Given the description of an element on the screen output the (x, y) to click on. 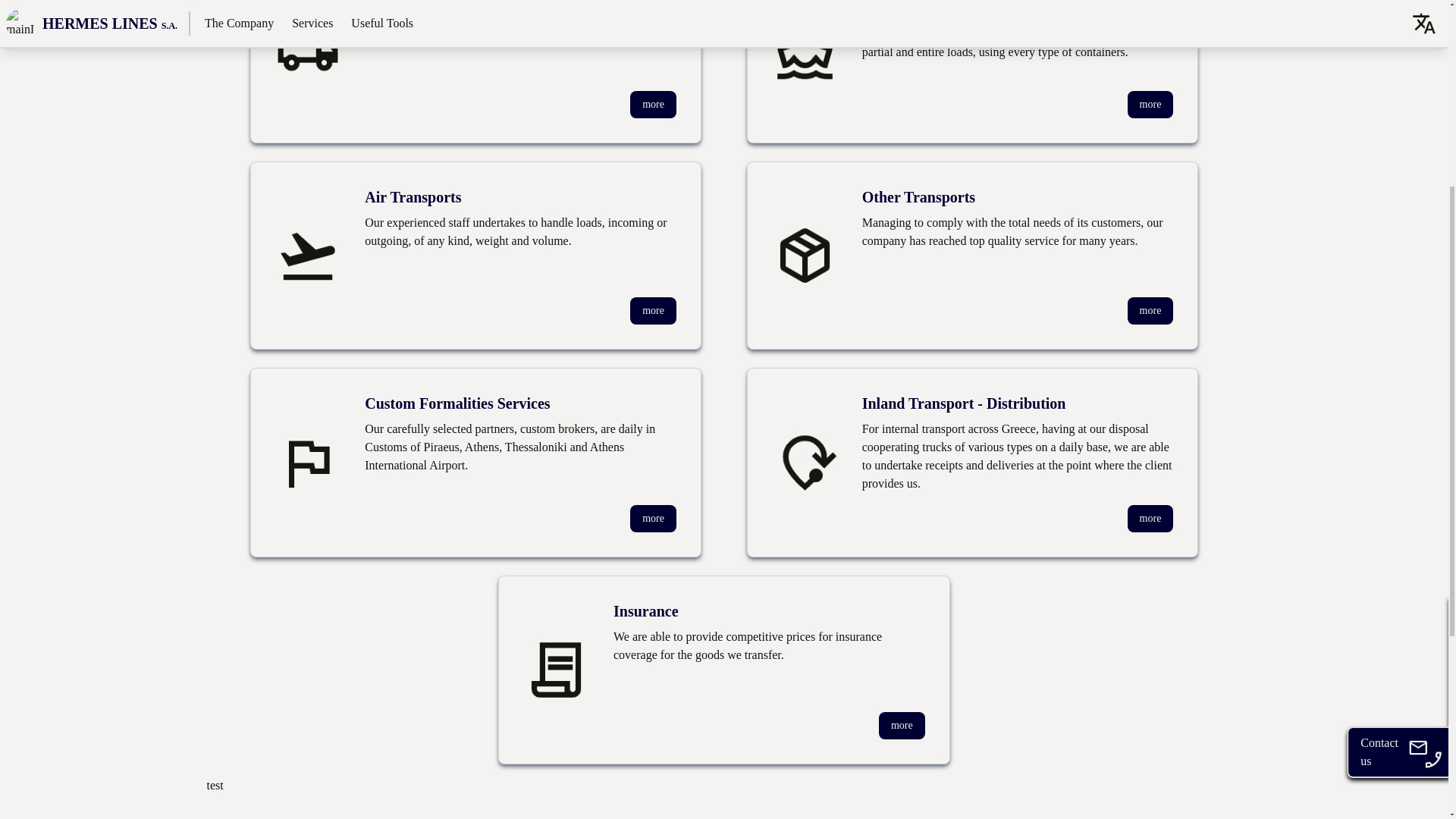
more (1149, 518)
more (653, 518)
more (653, 103)
more (1149, 310)
more (901, 725)
more (653, 310)
more (1149, 103)
